Given the description of an element on the screen output the (x, y) to click on. 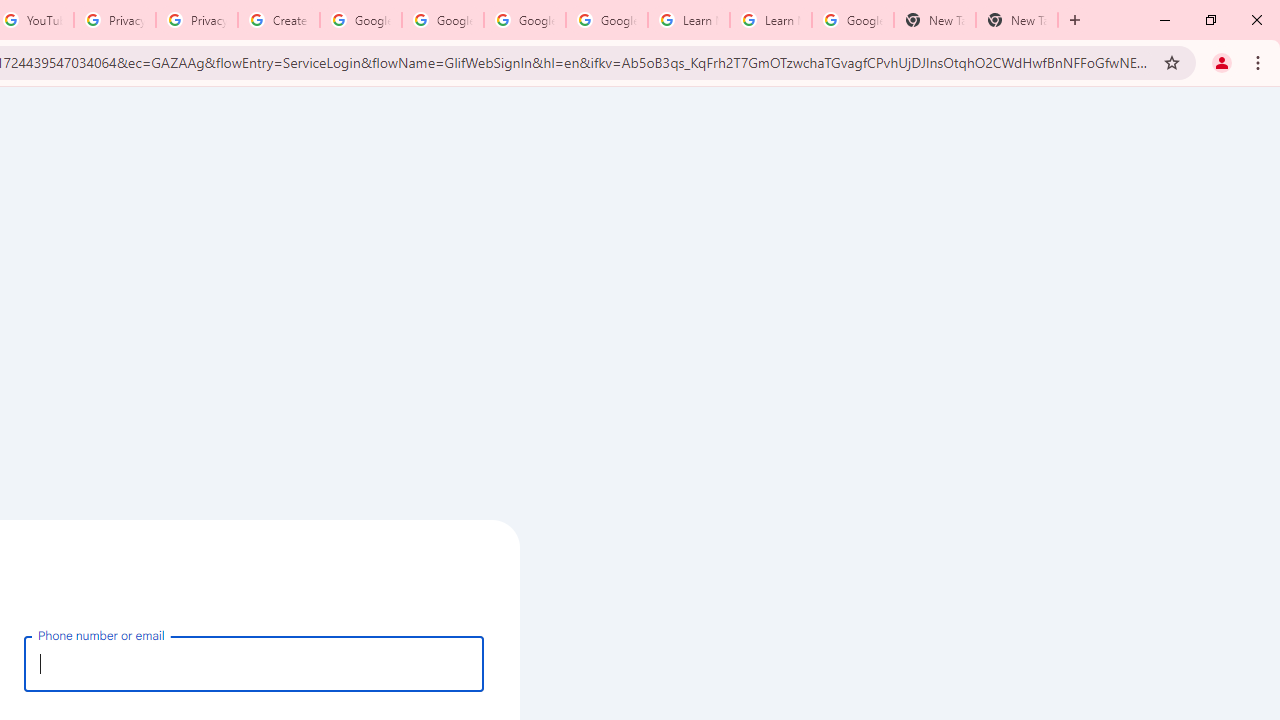
New Tab (1016, 20)
